Given the description of an element on the screen output the (x, y) to click on. 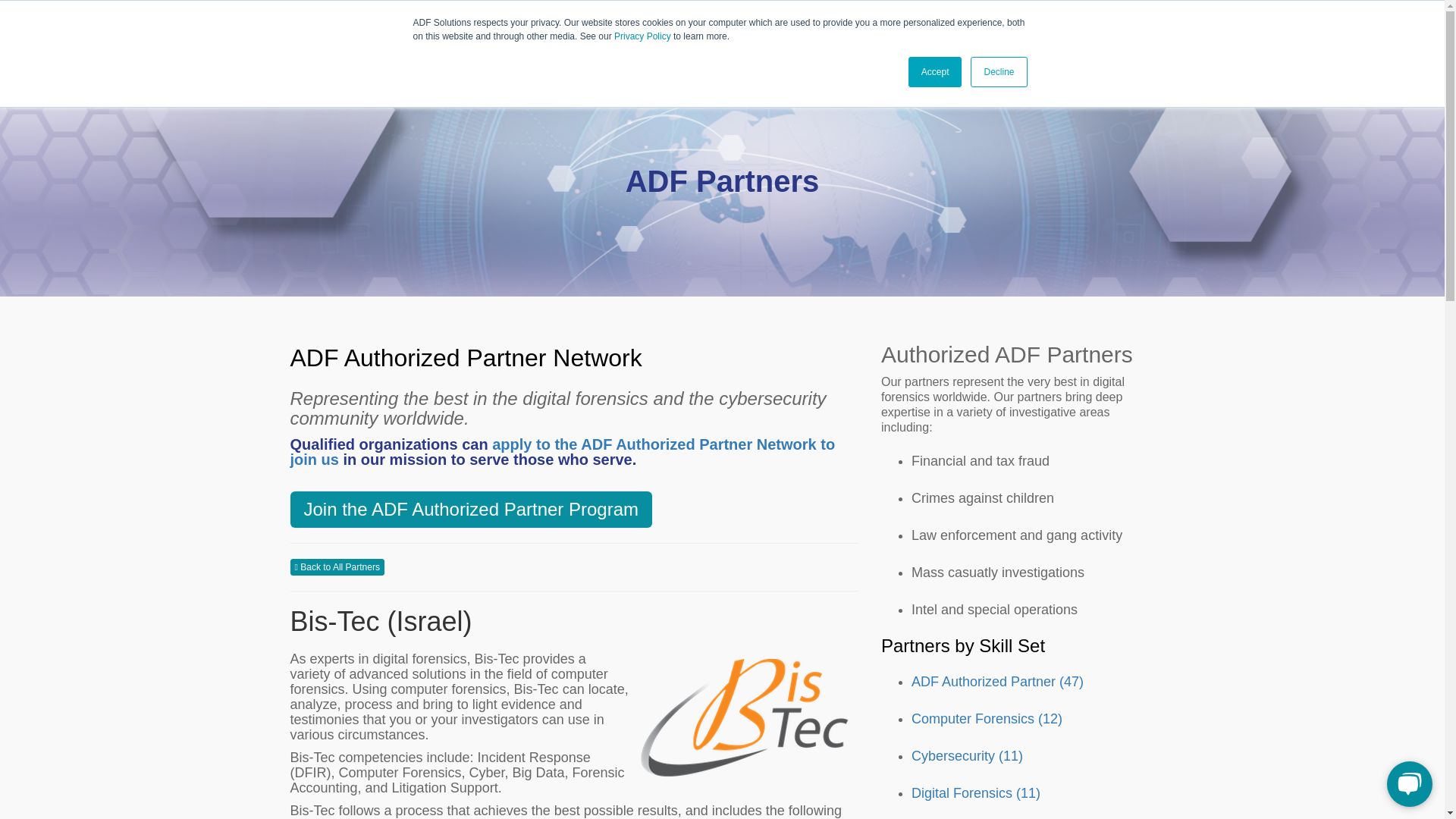
Decline (998, 71)
VERTICALS (410, 23)
PRODUCTS (501, 23)
SUPPORT (657, 23)
Privacy Policy (642, 36)
LEARN (579, 23)
Join the ADF Authorized Partner Program (470, 509)
COMPANY (741, 23)
Accept (935, 71)
